Given the description of an element on the screen output the (x, y) to click on. 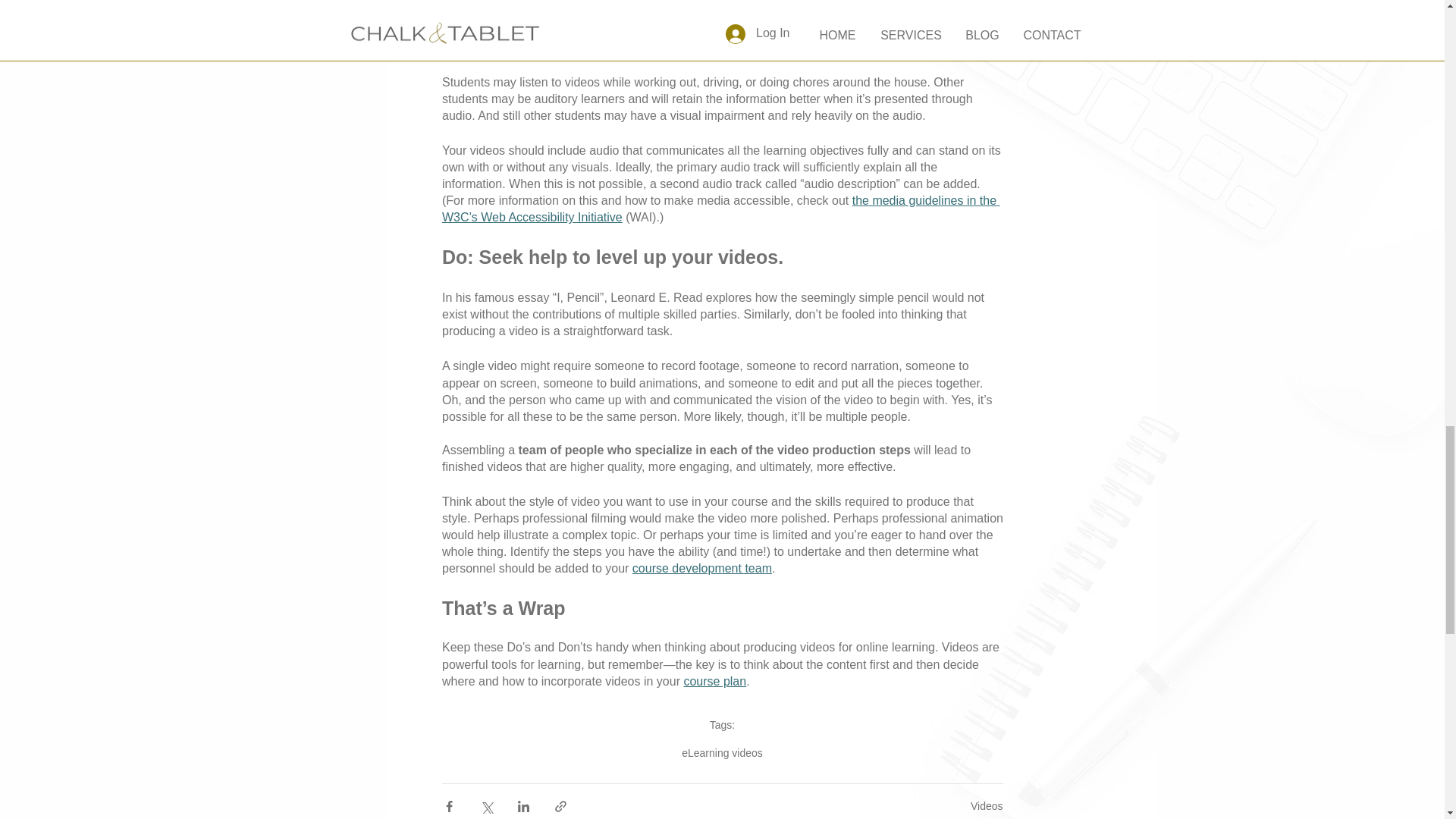
course development team (701, 567)
course plan (713, 680)
Videos (987, 806)
eLearning videos (721, 752)
